Given the description of an element on the screen output the (x, y) to click on. 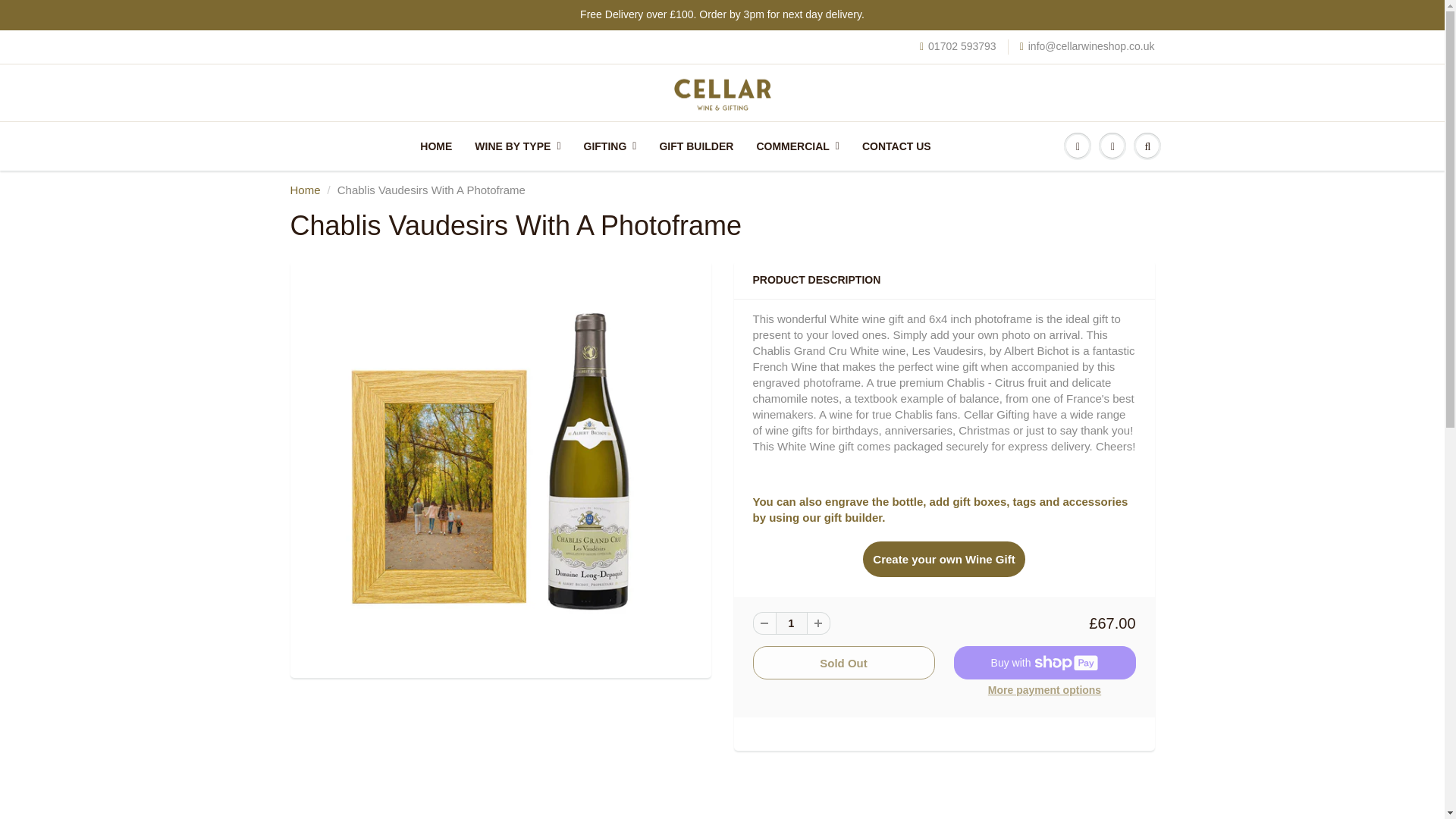
Sold Out (843, 662)
WINE BY TYPE (517, 145)
COMMERCIAL (797, 145)
GIFT BUILDER (695, 145)
GIFTING (609, 145)
HOME (436, 145)
Home (304, 189)
01702 593793 (957, 46)
1 (790, 622)
